Given the description of an element on the screen output the (x, y) to click on. 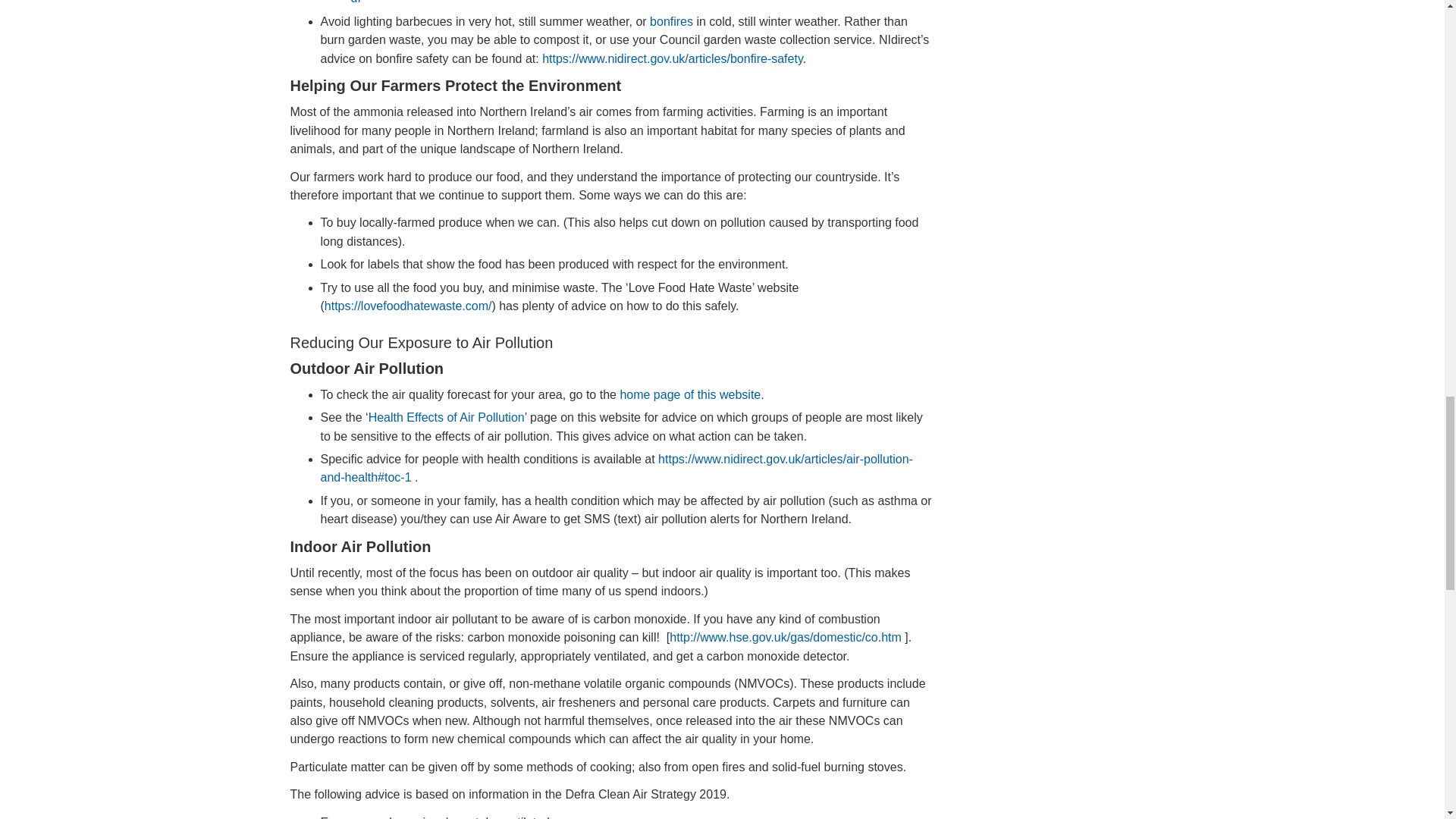
Health Effects of Air Pollution (446, 417)
home page of this website (690, 394)
bonfires (671, 21)
